Given the description of an element on the screen output the (x, y) to click on. 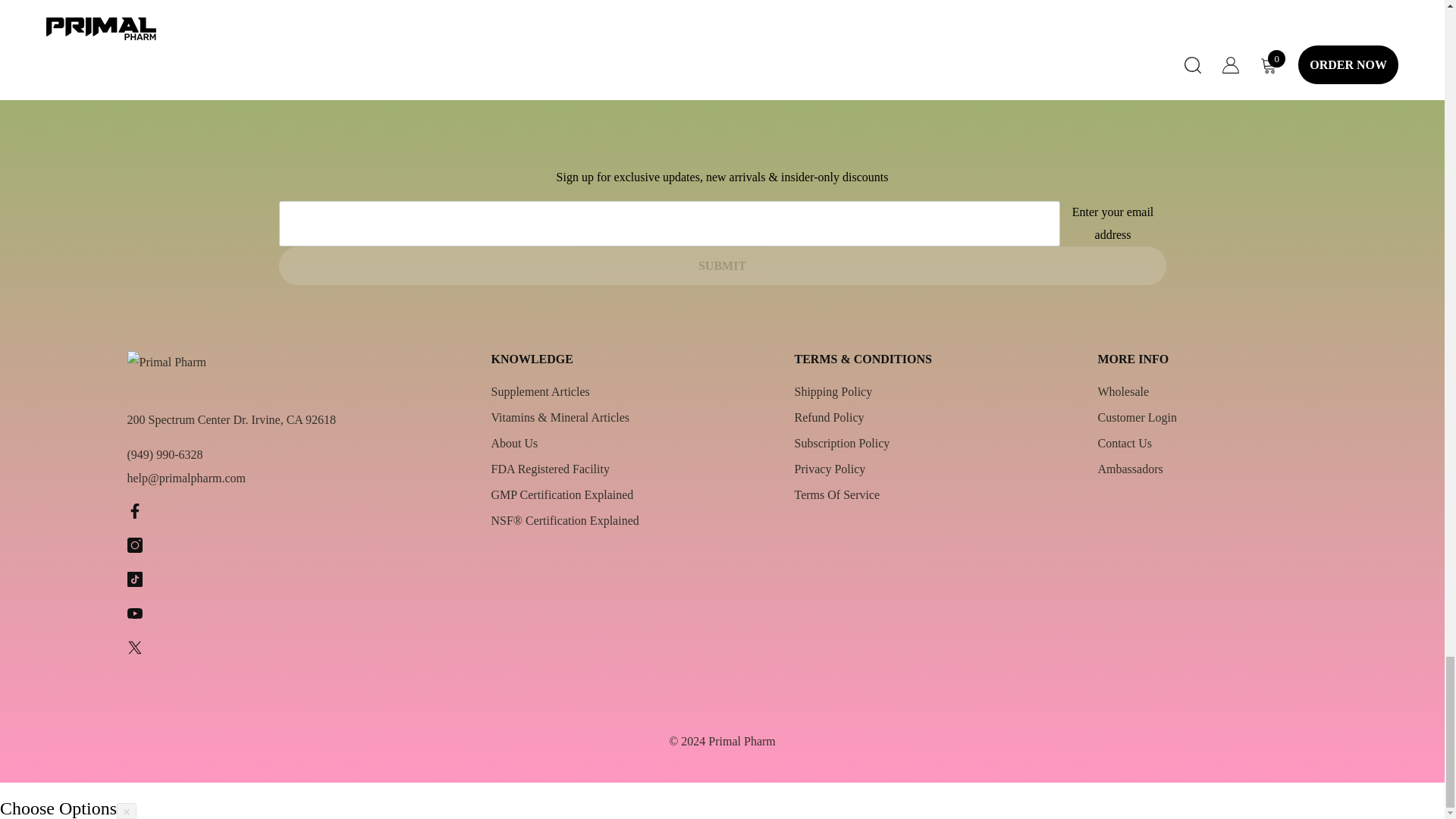
SUBMIT (722, 265)
